Given the description of an element on the screen output the (x, y) to click on. 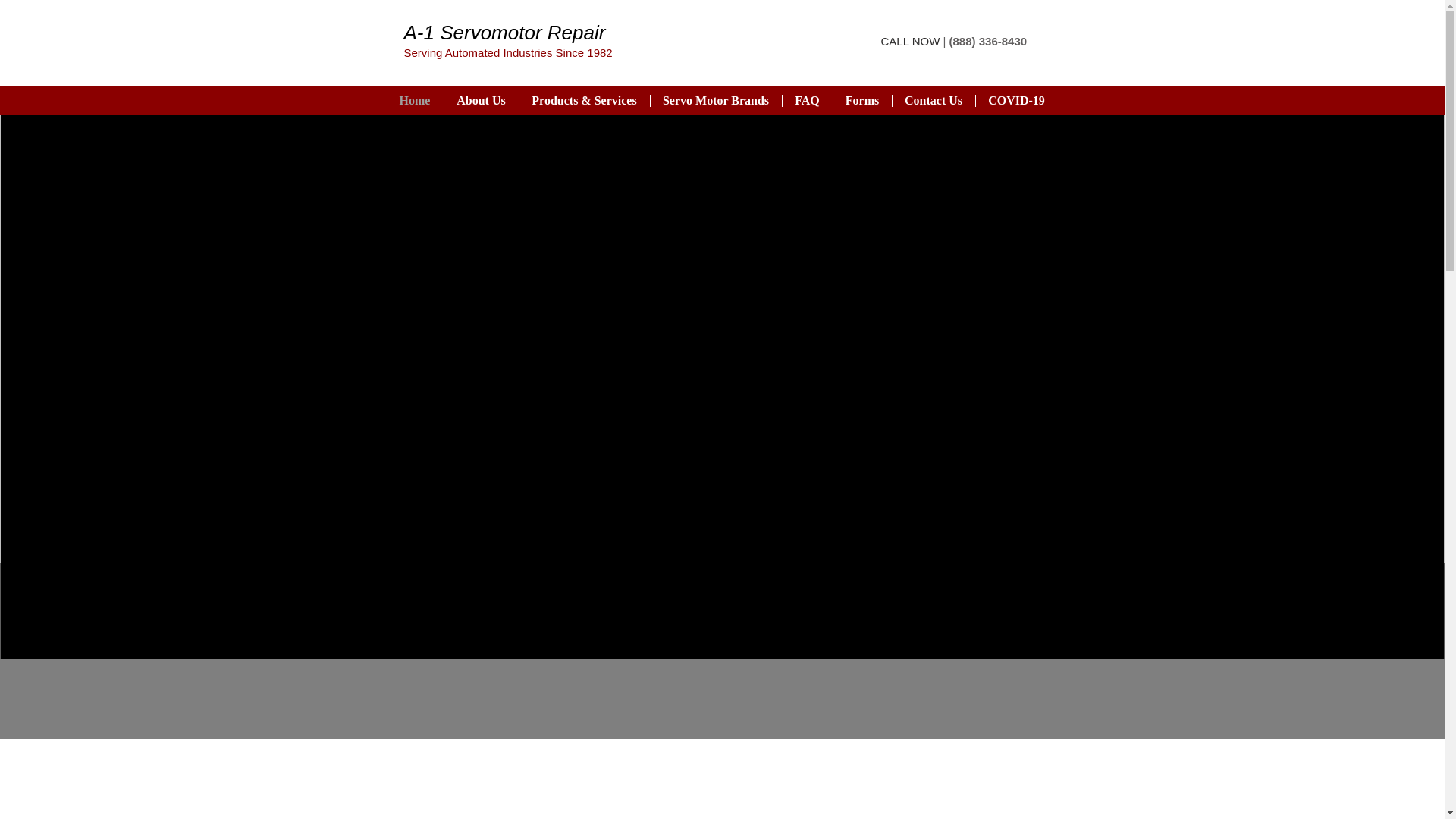
Home (415, 101)
Serving Automated Industries Since 1982 (507, 52)
Servo Motor Brands (714, 101)
About Us (480, 101)
Contact Us (933, 101)
COVID-19 (1016, 101)
FAQ (805, 101)
Forms (861, 101)
